Given the description of an element on the screen output the (x, y) to click on. 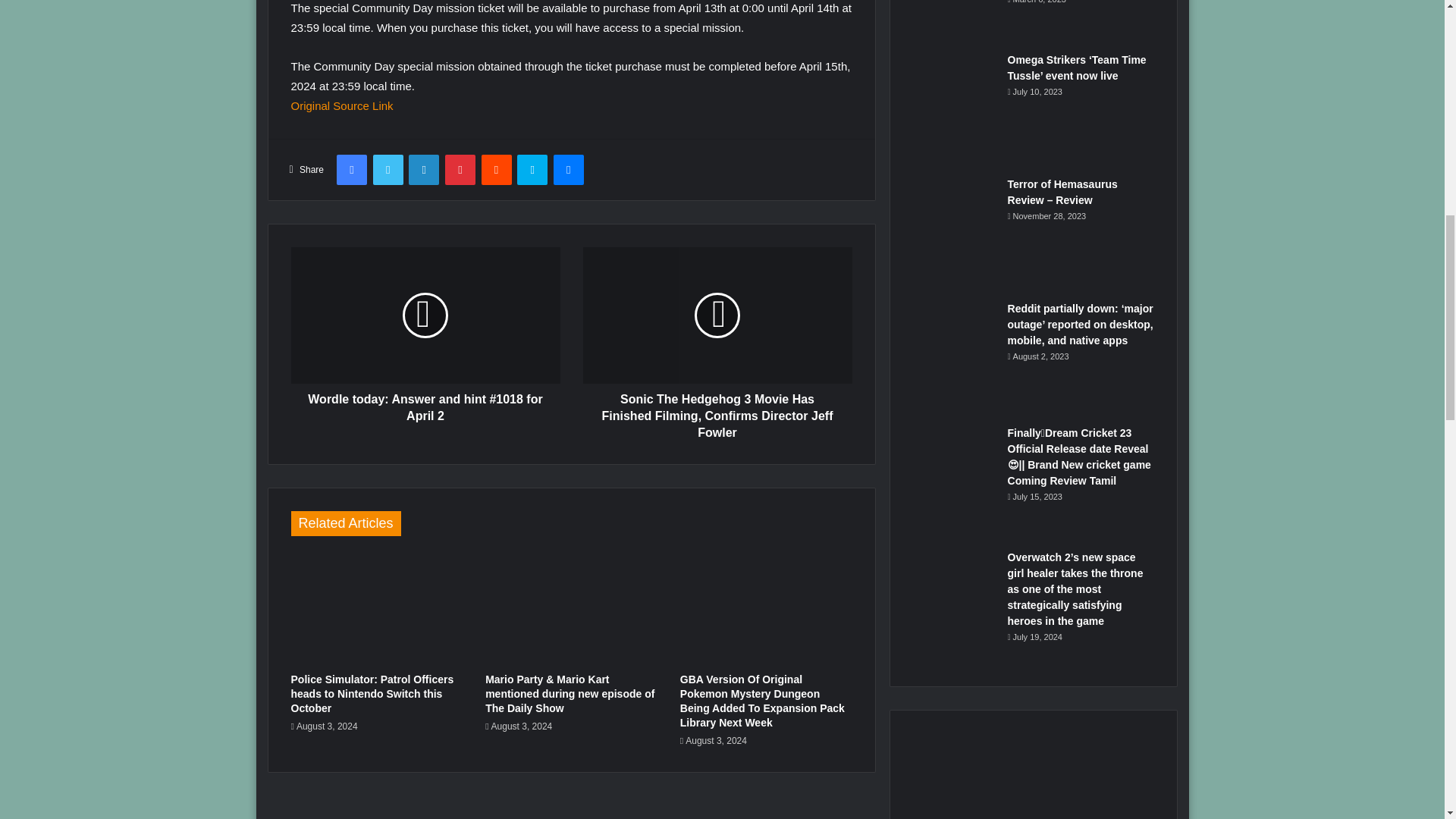
Skype (531, 169)
Twitter (387, 169)
Reddit (495, 169)
Facebook (351, 169)
Pinterest (460, 169)
Facebook (351, 169)
Messenger (568, 169)
Skype (531, 169)
LinkedIn (424, 169)
Twitter (387, 169)
Messenger (568, 169)
Pinterest (460, 169)
Reddit (495, 169)
